Given the description of an element on the screen output the (x, y) to click on. 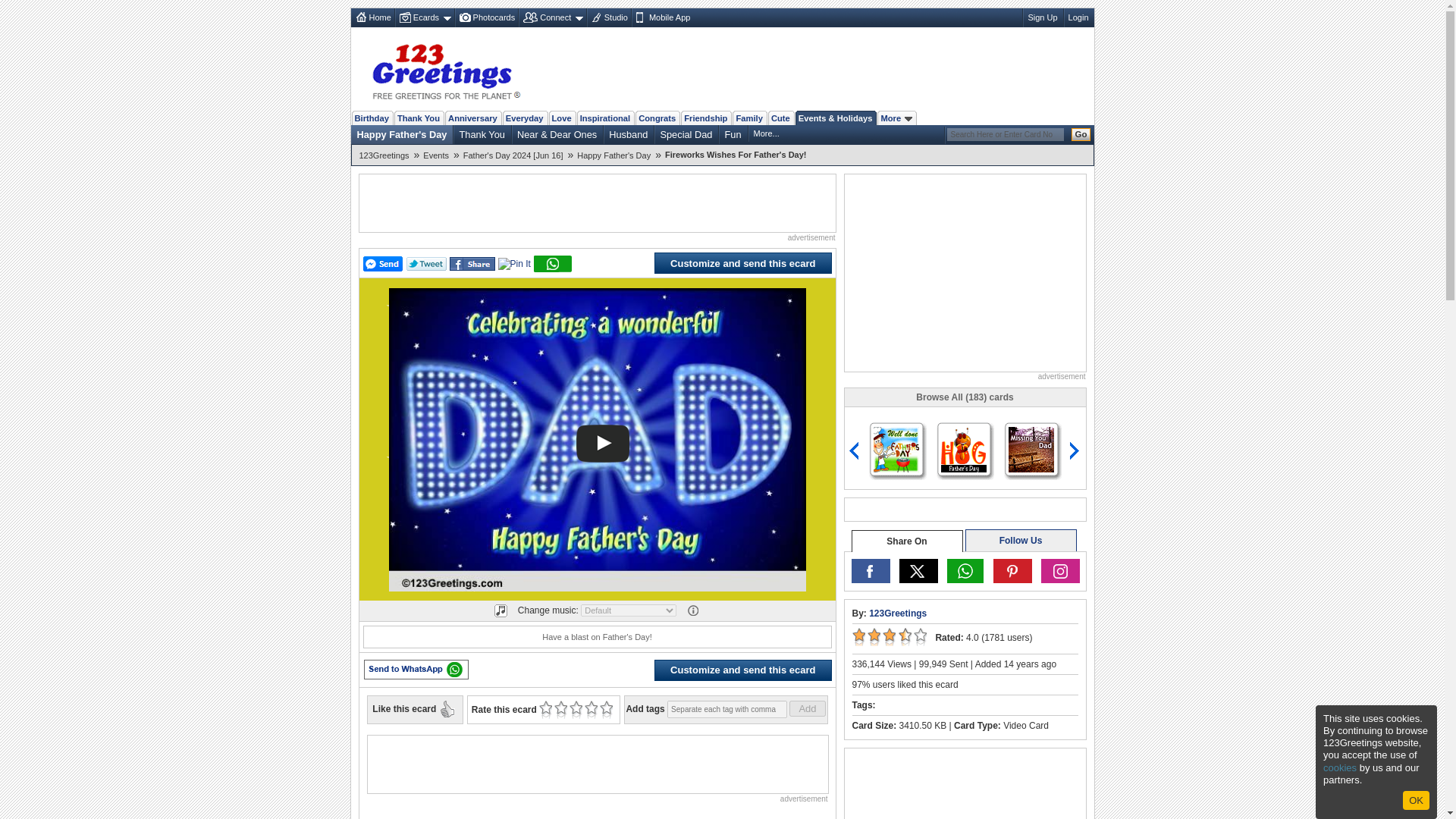
Ecards (424, 17)
Congrats (656, 117)
Family (748, 117)
Happy Father's Day (401, 134)
Upload your photo and send as an ecard (486, 17)
Birthday (371, 117)
3rd party ad content (816, 69)
More (896, 117)
Connect (551, 17)
Fun (732, 134)
More... (766, 133)
Everyday (524, 117)
Login (1078, 17)
Sign Up (1042, 17)
Friendship (705, 117)
